Given the description of an element on the screen output the (x, y) to click on. 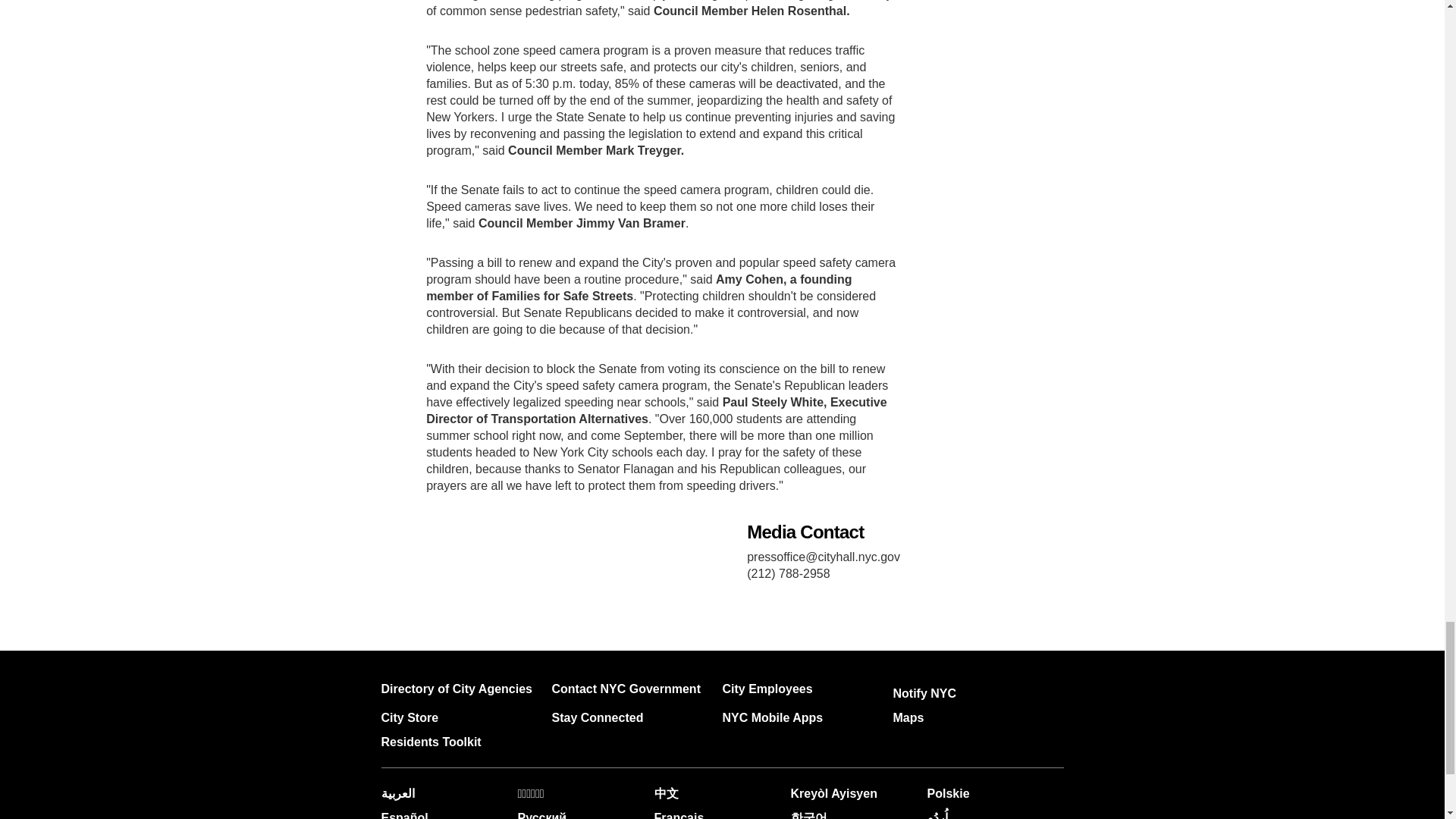
City Store (409, 717)
Stay Connected (597, 717)
Contact NYC Government (625, 688)
Directory of City Agencies (455, 688)
City Employees (767, 688)
Notify NYC (924, 693)
